Given the description of an element on the screen output the (x, y) to click on. 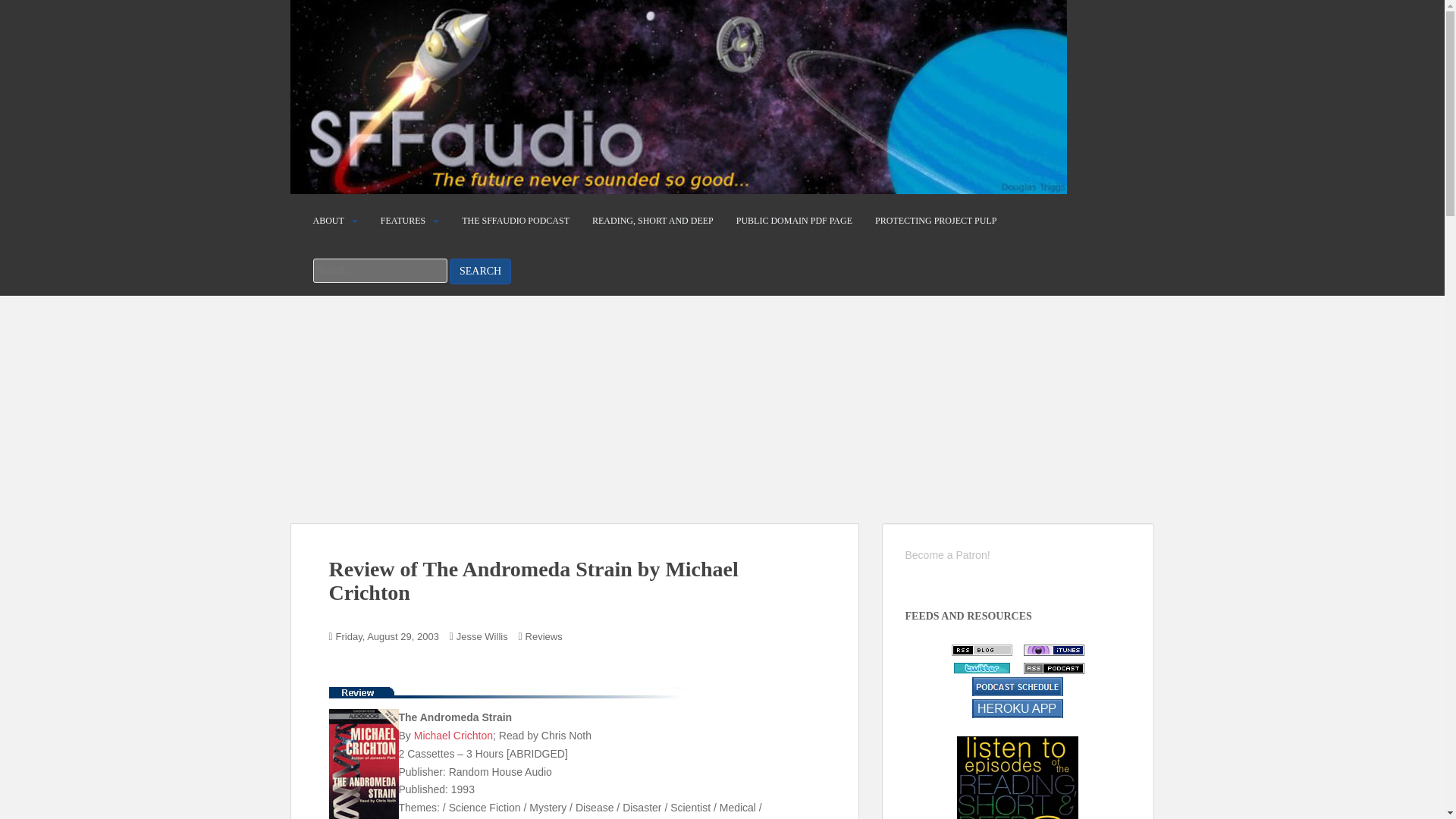
Reviews (543, 636)
THE SFFAUDIO PODCAST (515, 220)
Jesse Willis (482, 636)
Search (480, 271)
Friday, August 29, 2003 (387, 636)
PodcastSchedule (1017, 707)
READING, SHORT AND DEEP (652, 220)
FEATURES (402, 220)
PUBLIC DOMAIN PDF PAGE (793, 220)
PodcastSchedule (1017, 686)
Michael Crichton (453, 735)
ABOUT (328, 220)
PROTECTING PROJECT PULP (935, 220)
Search (480, 271)
